Given the description of an element on the screen output the (x, y) to click on. 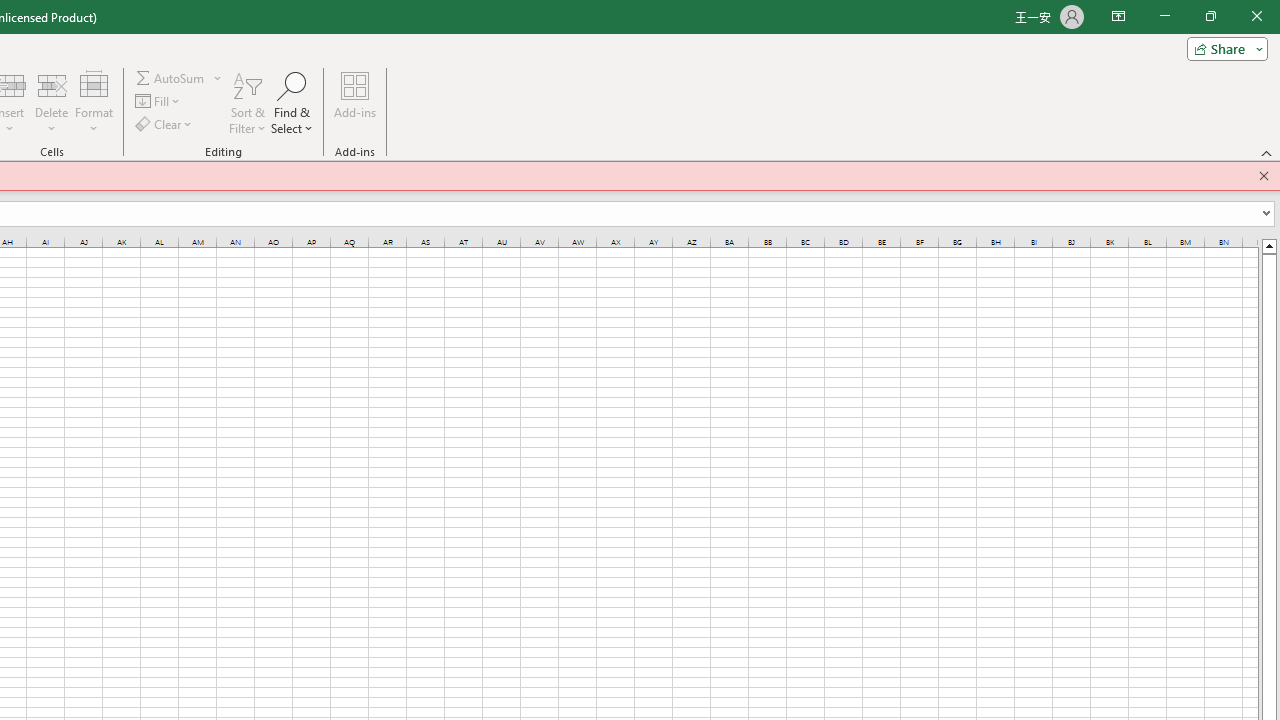
Sort & Filter (247, 102)
Delete (51, 102)
Clear (164, 124)
Find & Select (292, 102)
Fill (158, 101)
Format (94, 102)
Delete Cells... (51, 84)
Close this message (1263, 176)
